Given the description of an element on the screen output the (x, y) to click on. 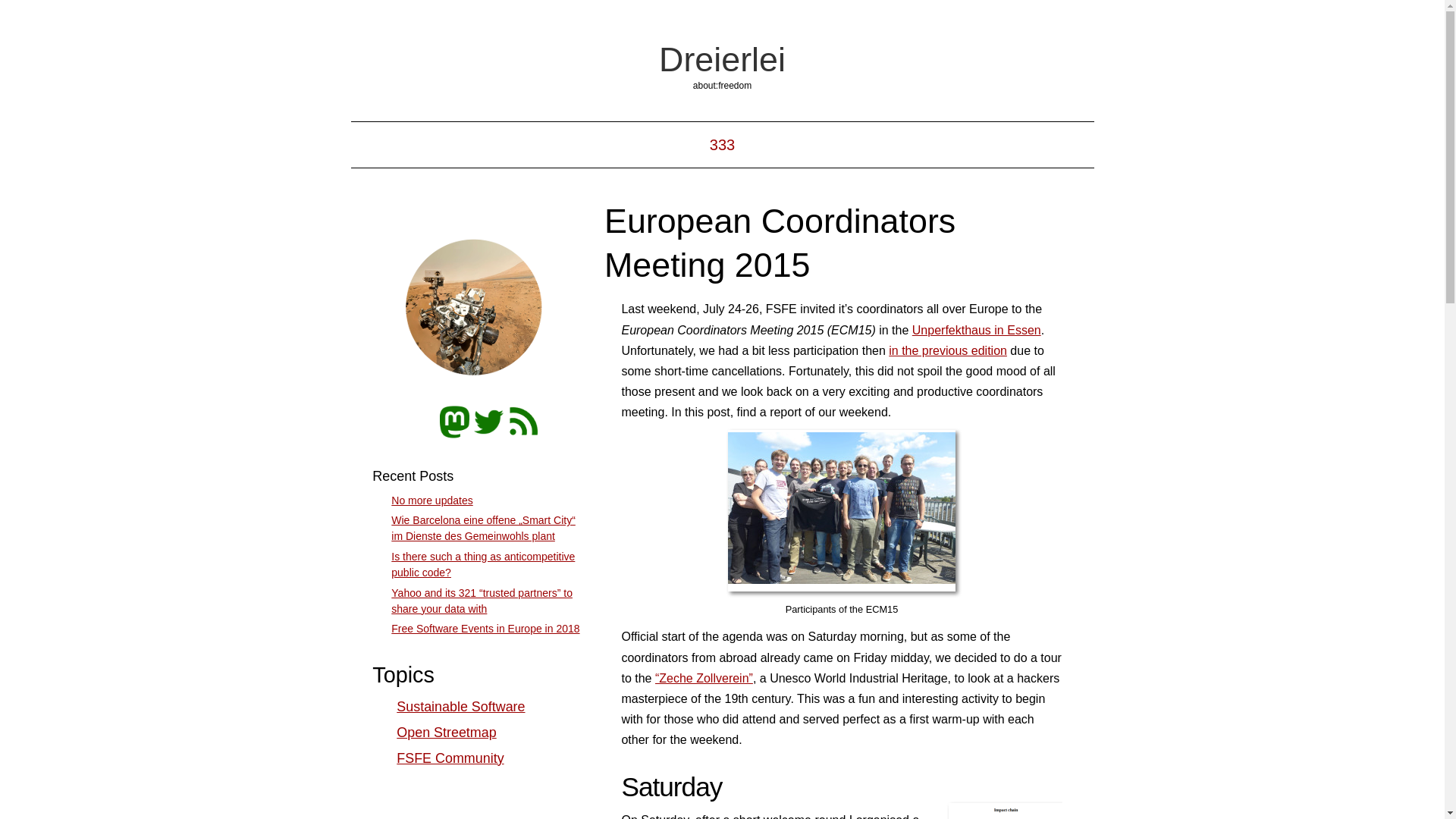
Is there such a thing as anticompetitive public code? (483, 564)
Sustainable Software (460, 706)
Open Streetmap (446, 732)
FSFE Community (449, 758)
Free Software Events in Europe in 2018 (485, 628)
Erik Albers (477, 309)
Dreierlei (722, 58)
in the previous edition (947, 350)
333 (722, 144)
Unperfekthaus in Essen (976, 329)
No more updates (431, 500)
